Given the description of an element on the screen output the (x, y) to click on. 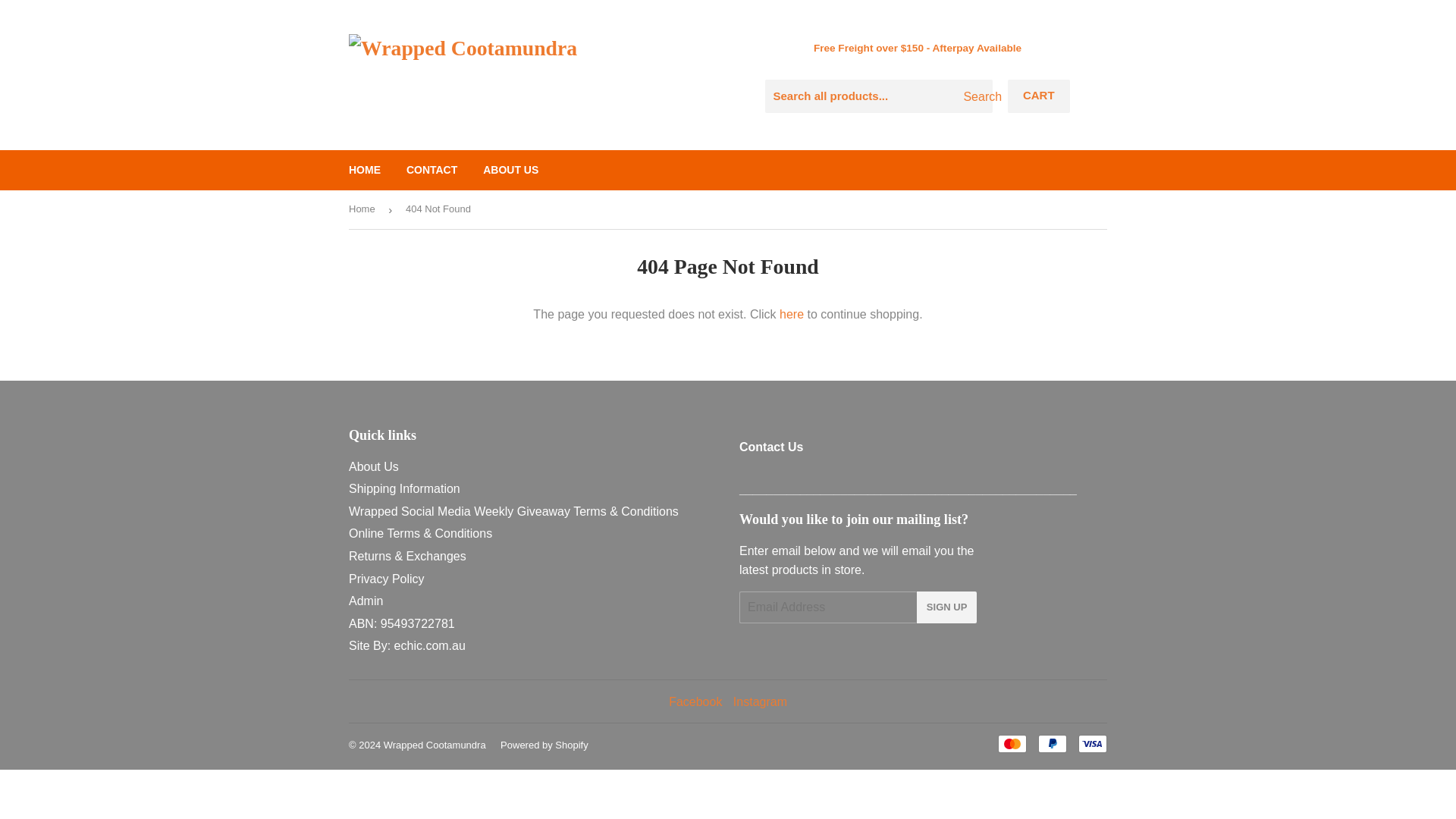
Wrapped Cootamundra on Facebook (695, 701)
CART (1038, 96)
Mastercard (1011, 743)
Contact Us (771, 446)
PayPal (1052, 743)
Visa (1092, 743)
Search (975, 97)
Wrapped Cootamundra on Instagram (760, 701)
